Given the description of an element on the screen output the (x, y) to click on. 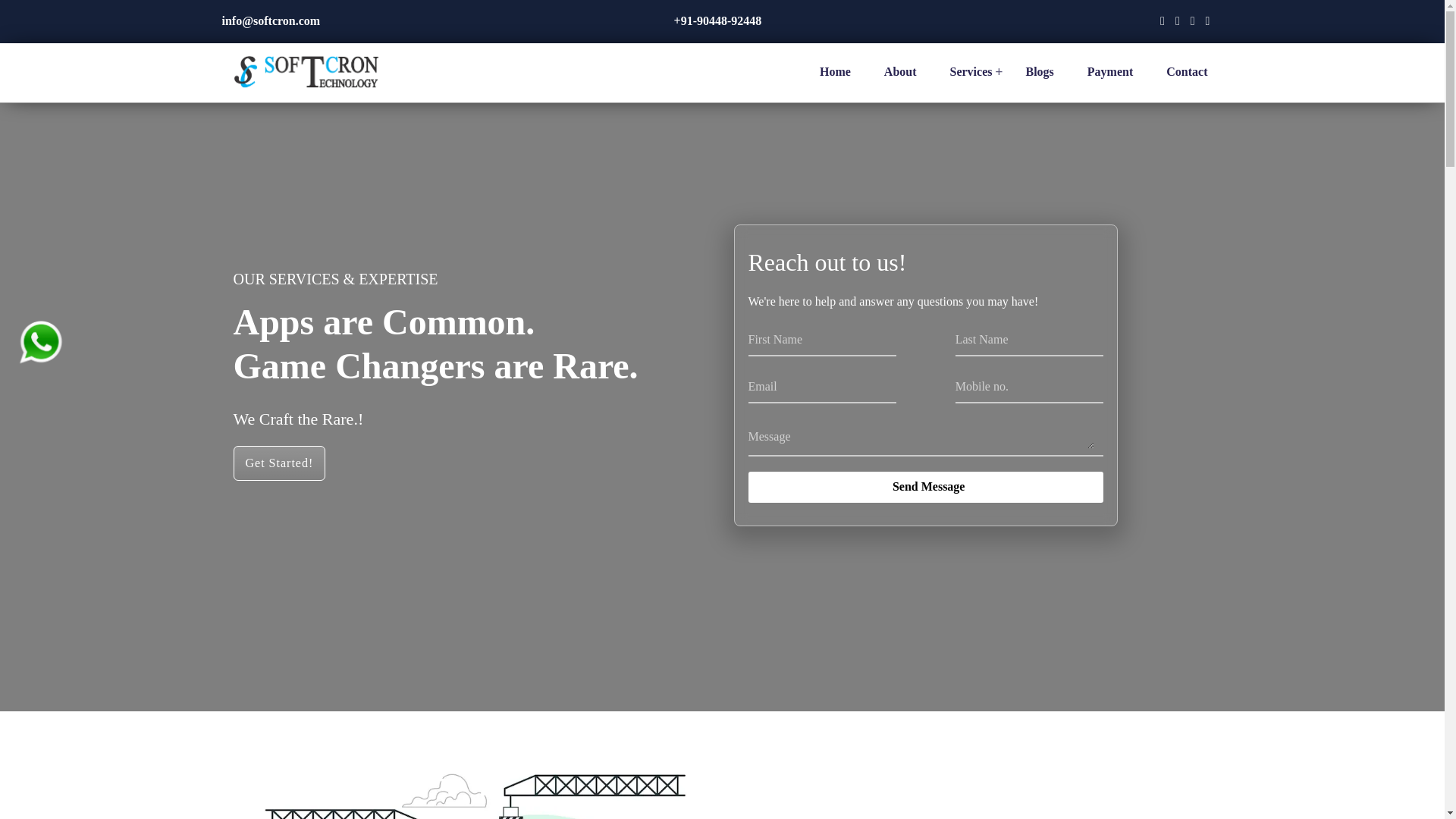
Home (834, 79)
Send Message (925, 486)
Blogs (1038, 79)
About (900, 79)
Services (971, 79)
Payment (1109, 79)
Contact (1186, 79)
